Given the description of an element on the screen output the (x, y) to click on. 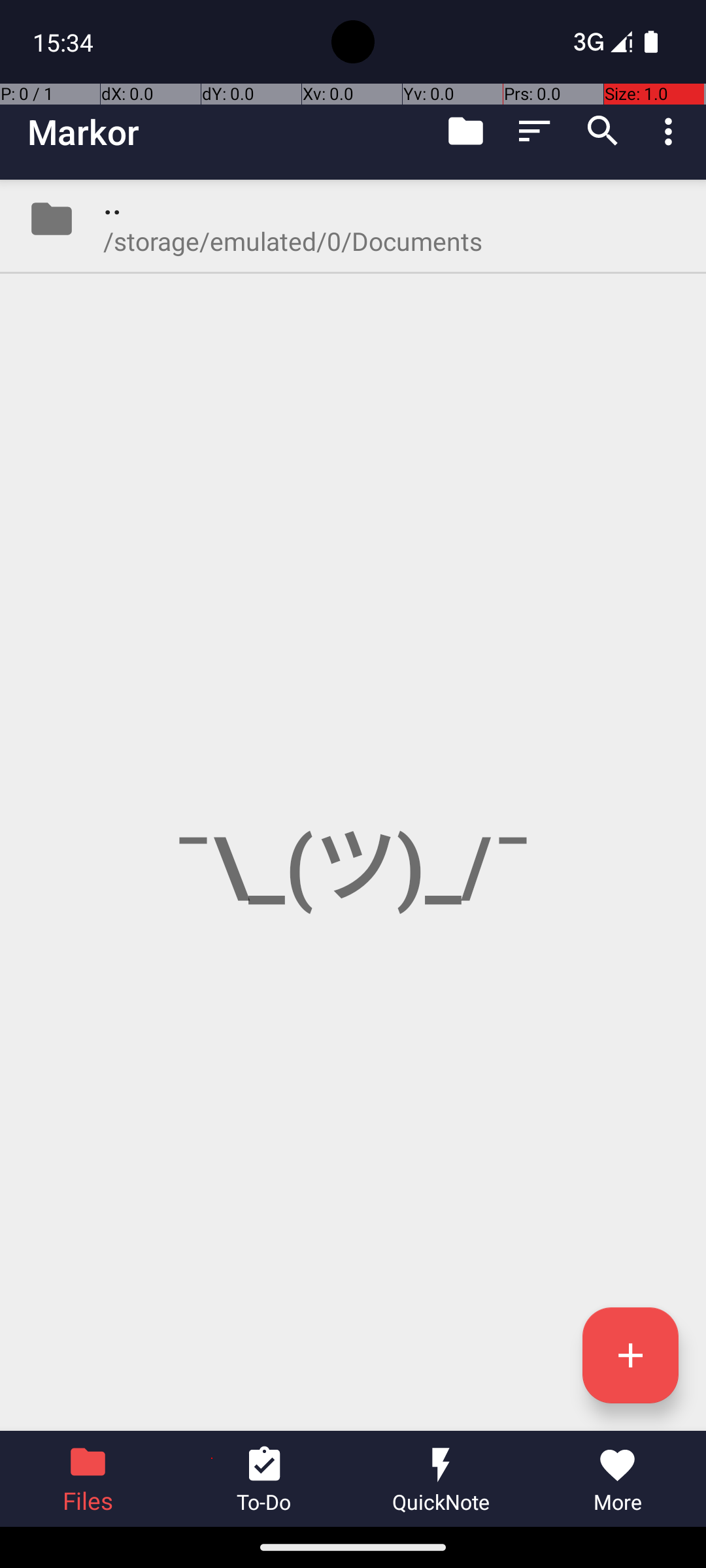
¯\_(ツ)_/¯ Element type: android.widget.TextView (353, 804)
